Given the description of an element on the screen output the (x, y) to click on. 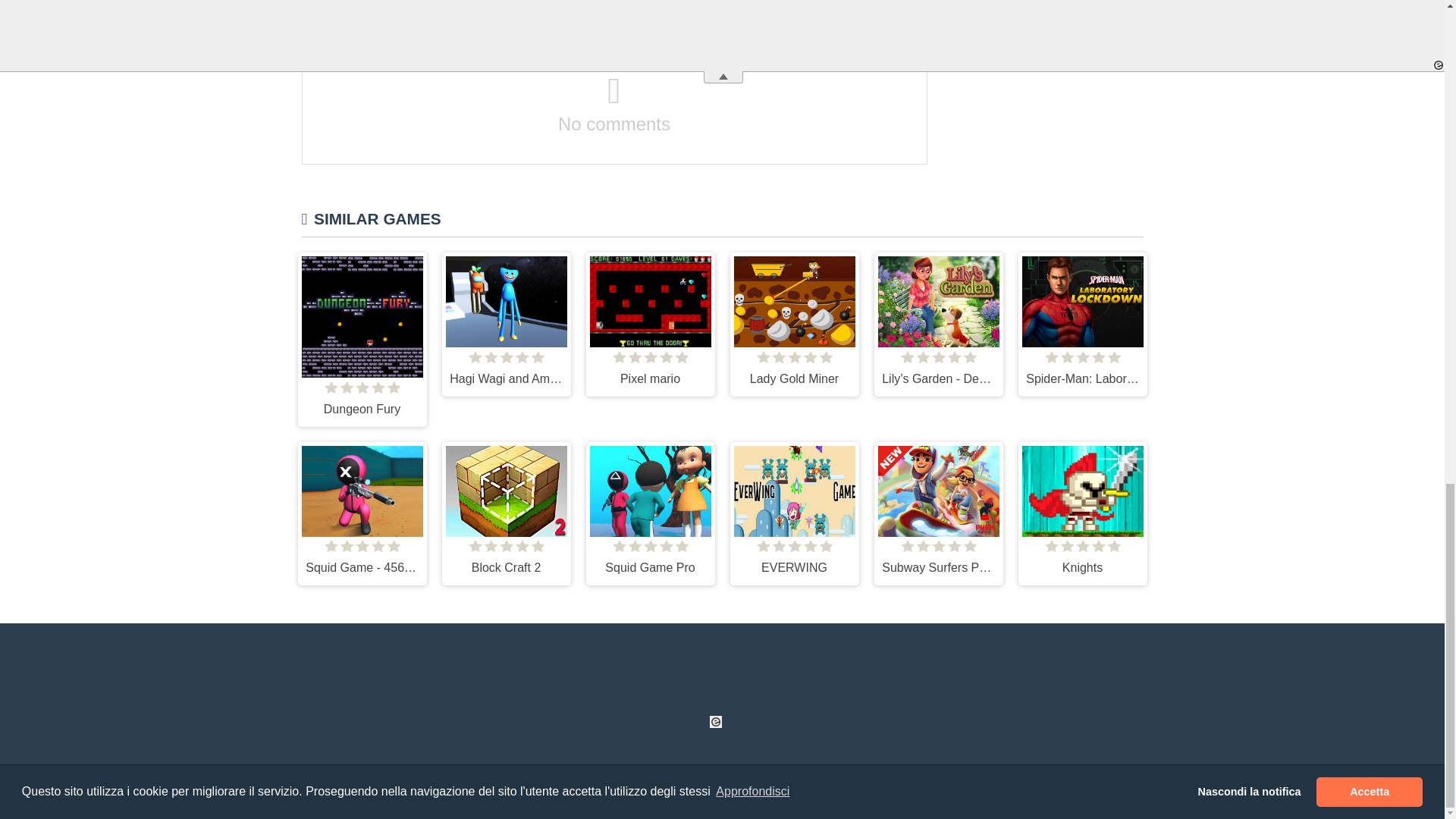
eADV (446, 694)
Hagi Wagi and Among Us (505, 323)
Dungeon Fury (361, 338)
eADV (716, 721)
Pixel mario (649, 323)
